Given the description of an element on the screen output the (x, y) to click on. 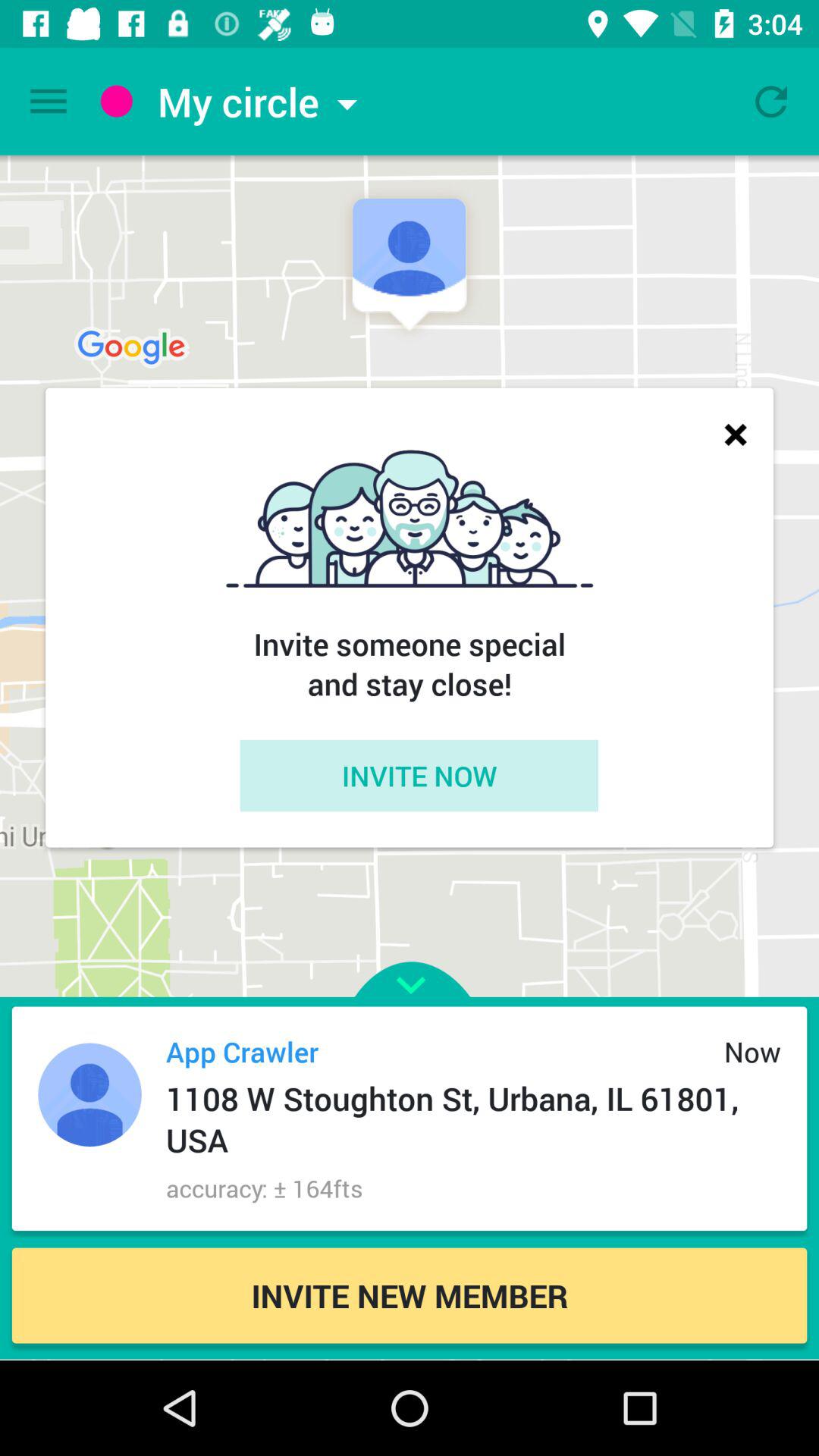
tap icon above the invite someone special (735, 434)
